Given the description of an element on the screen output the (x, y) to click on. 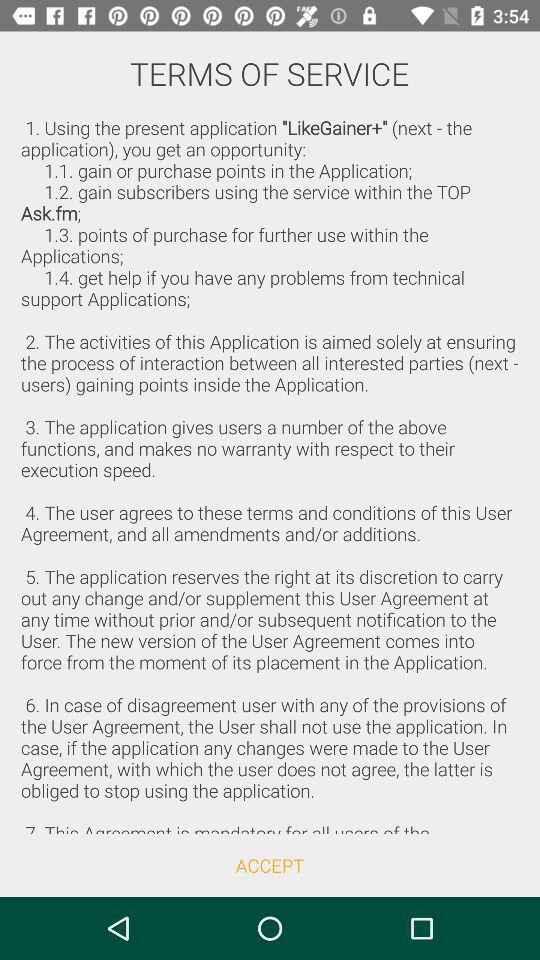
turn off the accept icon (270, 864)
